Given the description of an element on the screen output the (x, y) to click on. 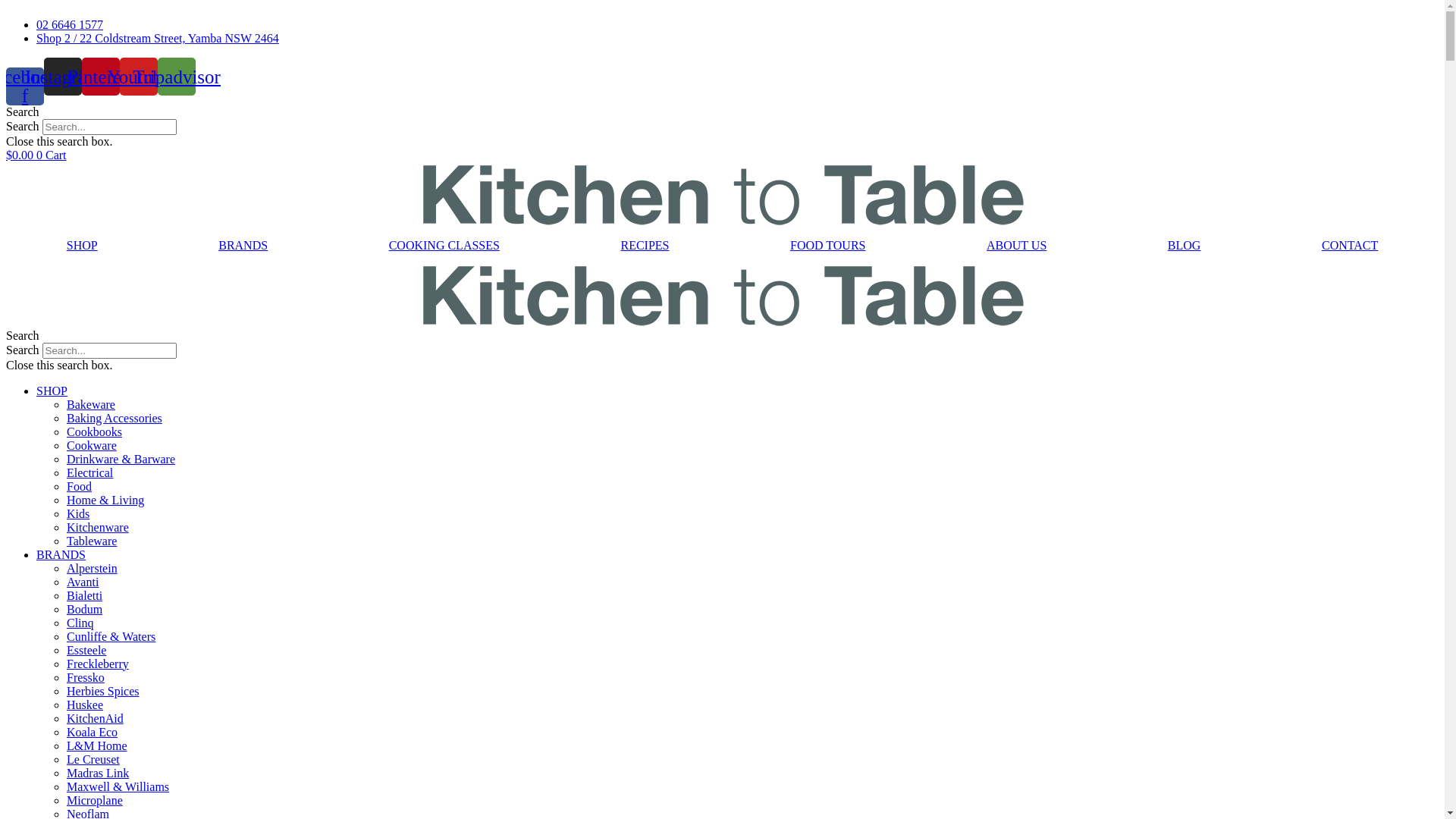
Cunliffe & Waters Element type: text (110, 635)
Electrical Element type: text (89, 471)
Bodum Element type: text (84, 608)
COOKING CLASSES Element type: text (444, 244)
Alperstein Element type: text (91, 567)
FOOD TOURS Element type: text (827, 244)
Bakeware Element type: text (90, 403)
Shop 2 / 22 Coldstream Street, Yamba NSW 2464 Element type: text (157, 37)
Herbies Spices Element type: text (102, 690)
Freckleberry Element type: text (97, 662)
BRANDS Element type: text (242, 244)
Instagram Element type: text (62, 76)
Le Creuset Element type: text (92, 758)
Avanti Element type: text (82, 580)
02 6646 1577 Element type: text (69, 24)
Home & Living Element type: text (105, 498)
Facebook-f Element type: text (24, 85)
Tableware Element type: text (91, 539)
Cookbooks Element type: text (94, 430)
RECIPES Element type: text (645, 244)
Baking Accessories Element type: text (114, 417)
Koala Eco Element type: text (91, 730)
Skip to content Element type: text (5, 5)
KitchenAid Element type: text (94, 717)
Kids Element type: text (77, 512)
Madras Link Element type: text (97, 771)
Maxwell & Williams Element type: text (117, 785)
Kitchenware Element type: text (97, 526)
Essteele Element type: text (86, 649)
CONTACT Element type: text (1349, 244)
Clinq Element type: text (80, 621)
Bialetti Element type: text (84, 594)
ABOUT US Element type: text (1016, 244)
SHOP Element type: text (51, 389)
SHOP Element type: text (81, 244)
L&M Home Element type: text (96, 744)
Youtube Element type: text (138, 76)
$0.00 0 Cart Element type: text (36, 154)
BLOG Element type: text (1184, 244)
BRANDS Element type: text (60, 553)
Huskee Element type: text (84, 703)
Pinterest Element type: text (100, 76)
Drinkware & Barware Element type: text (120, 457)
Tripadvisor Element type: text (176, 76)
Fressko Element type: text (85, 676)
Food Element type: text (78, 485)
Microplane Element type: text (94, 799)
Cookware Element type: text (91, 444)
